Given the description of an element on the screen output the (x, y) to click on. 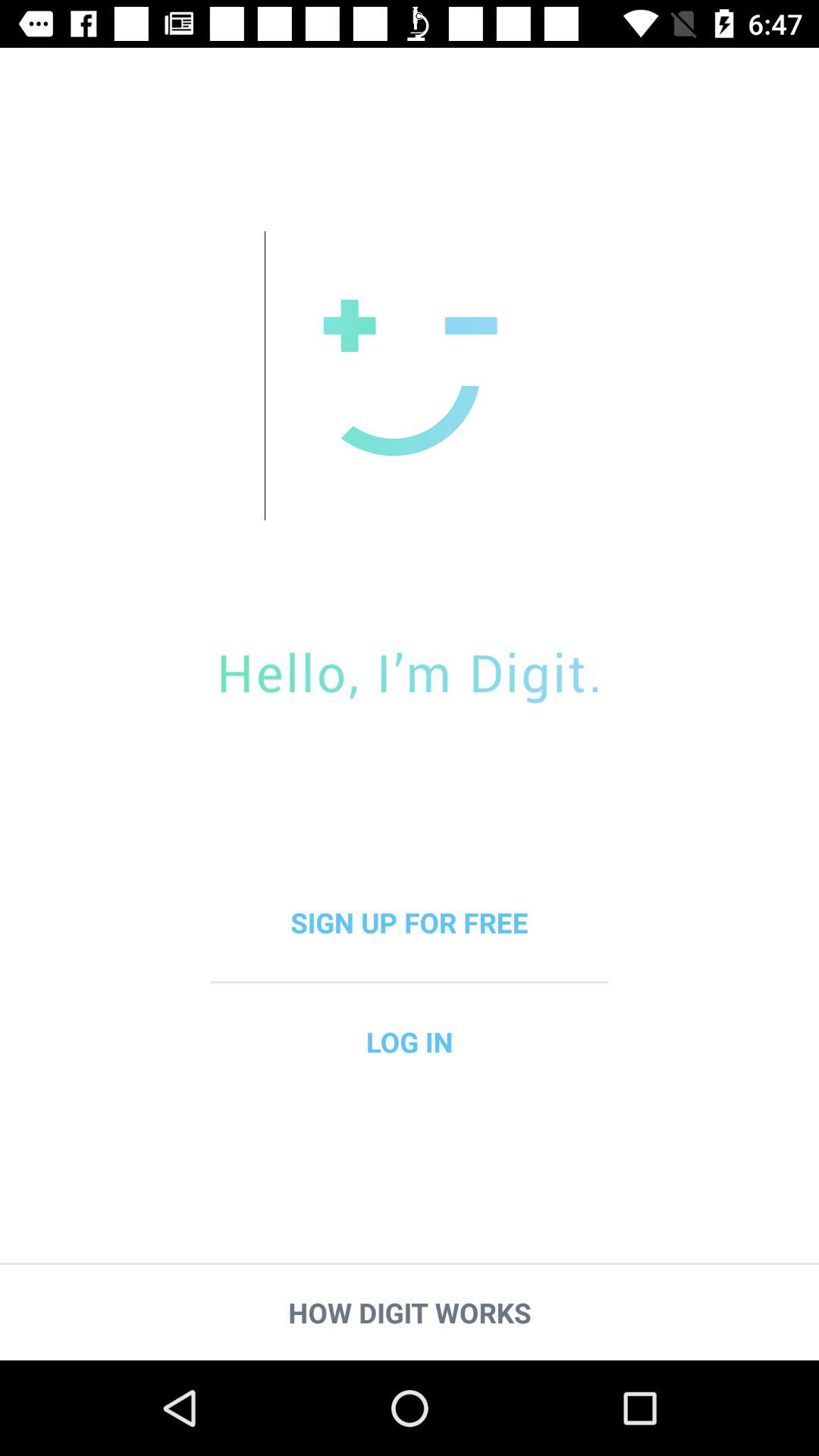
jump until the how digit works item (409, 1312)
